Given the description of an element on the screen output the (x, y) to click on. 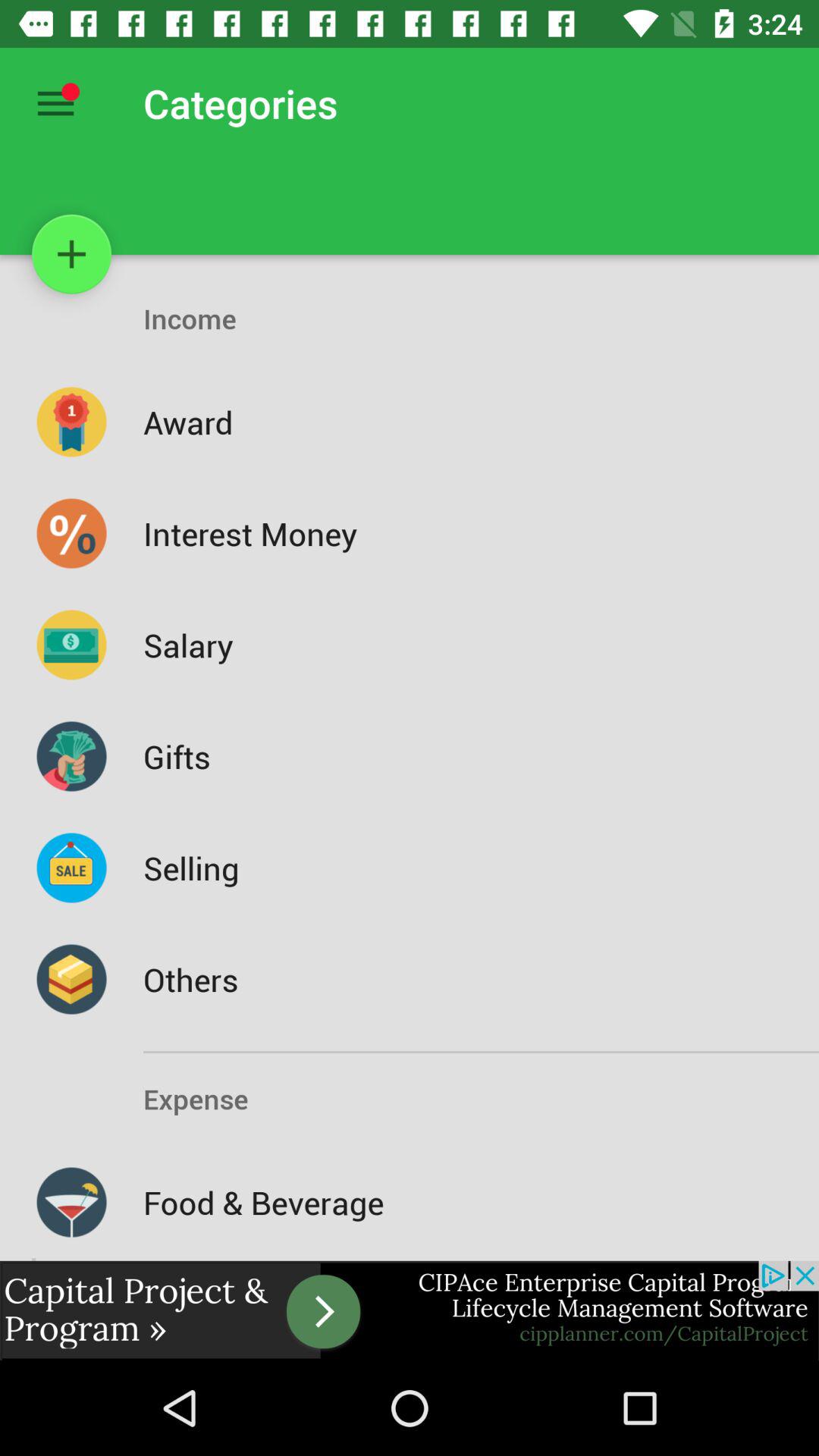
options menu (55, 103)
